Given the description of an element on the screen output the (x, y) to click on. 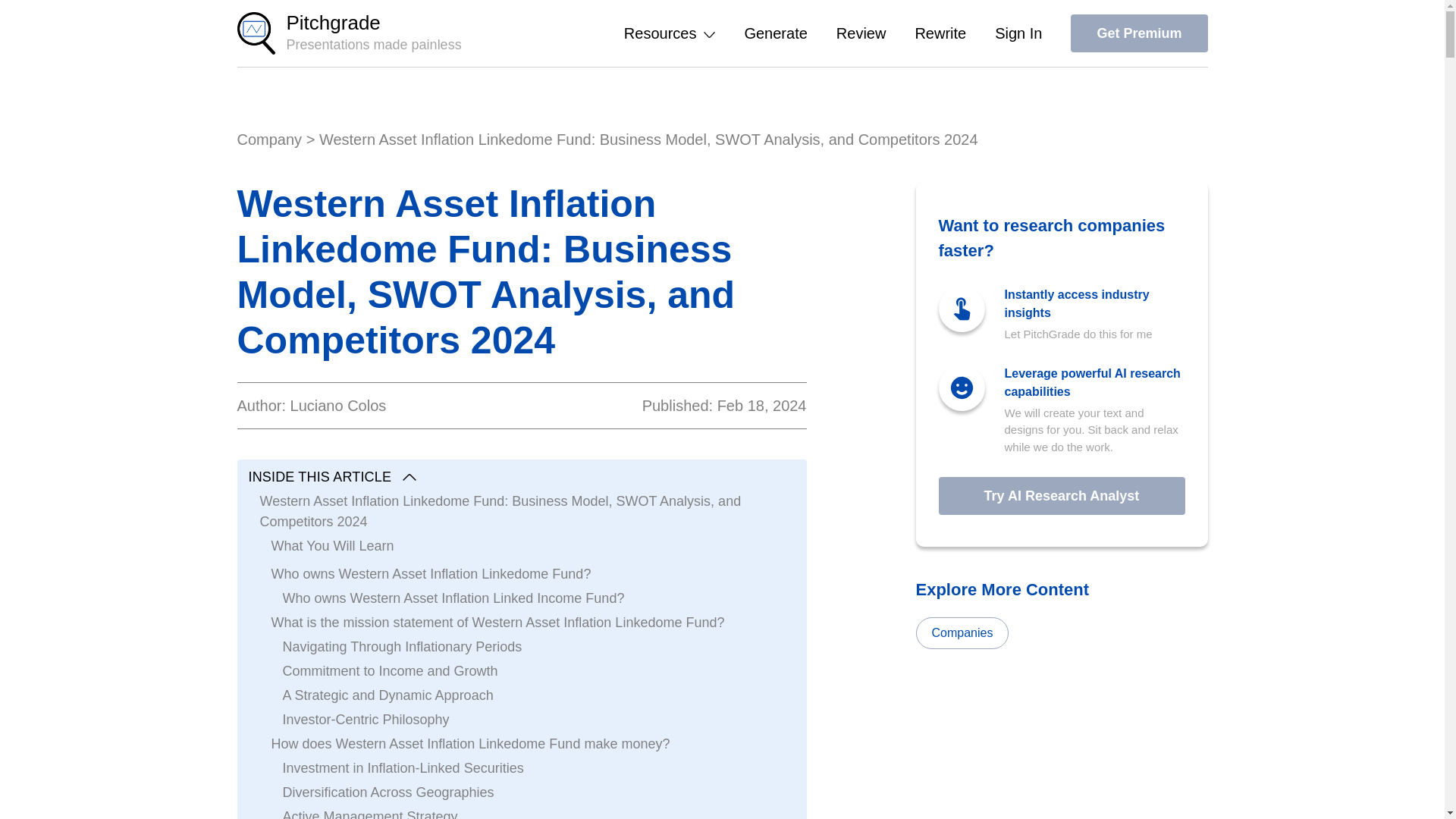
How does Western Asset Inflation Linkedome Fund make money? (469, 743)
Who owns Western Asset Inflation Linked Income Fund? (453, 598)
What You Will Learn (332, 545)
smile (960, 387)
Pitchgrade (255, 33)
Navigating Through Inflationary Periods (401, 646)
Investor-Centric Philosophy (365, 719)
A Strategic and Dynamic Approach (387, 694)
Commitment to Income and Growth (389, 671)
